Given the description of an element on the screen output the (x, y) to click on. 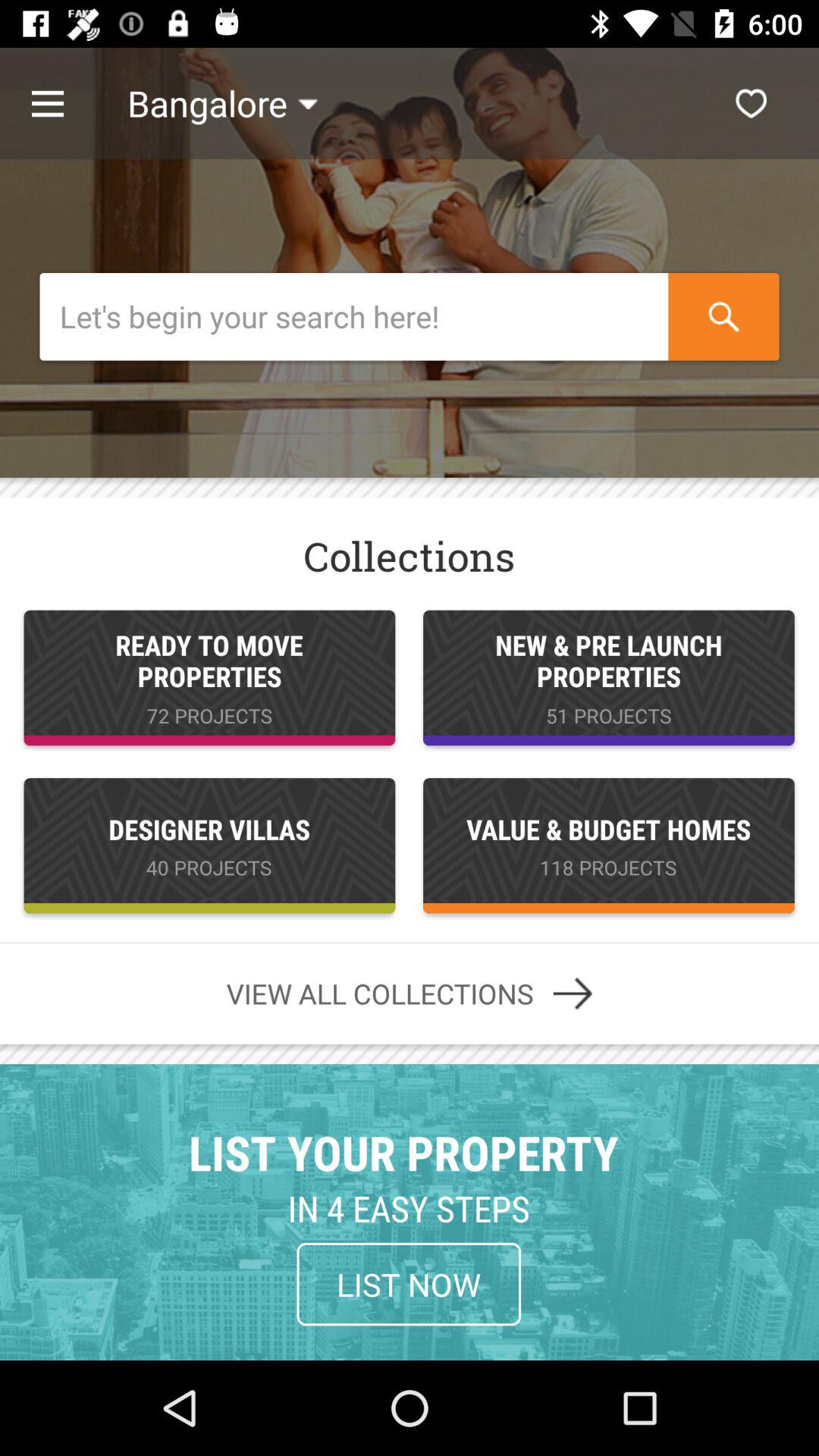
options (63, 103)
